Given the description of an element on the screen output the (x, y) to click on. 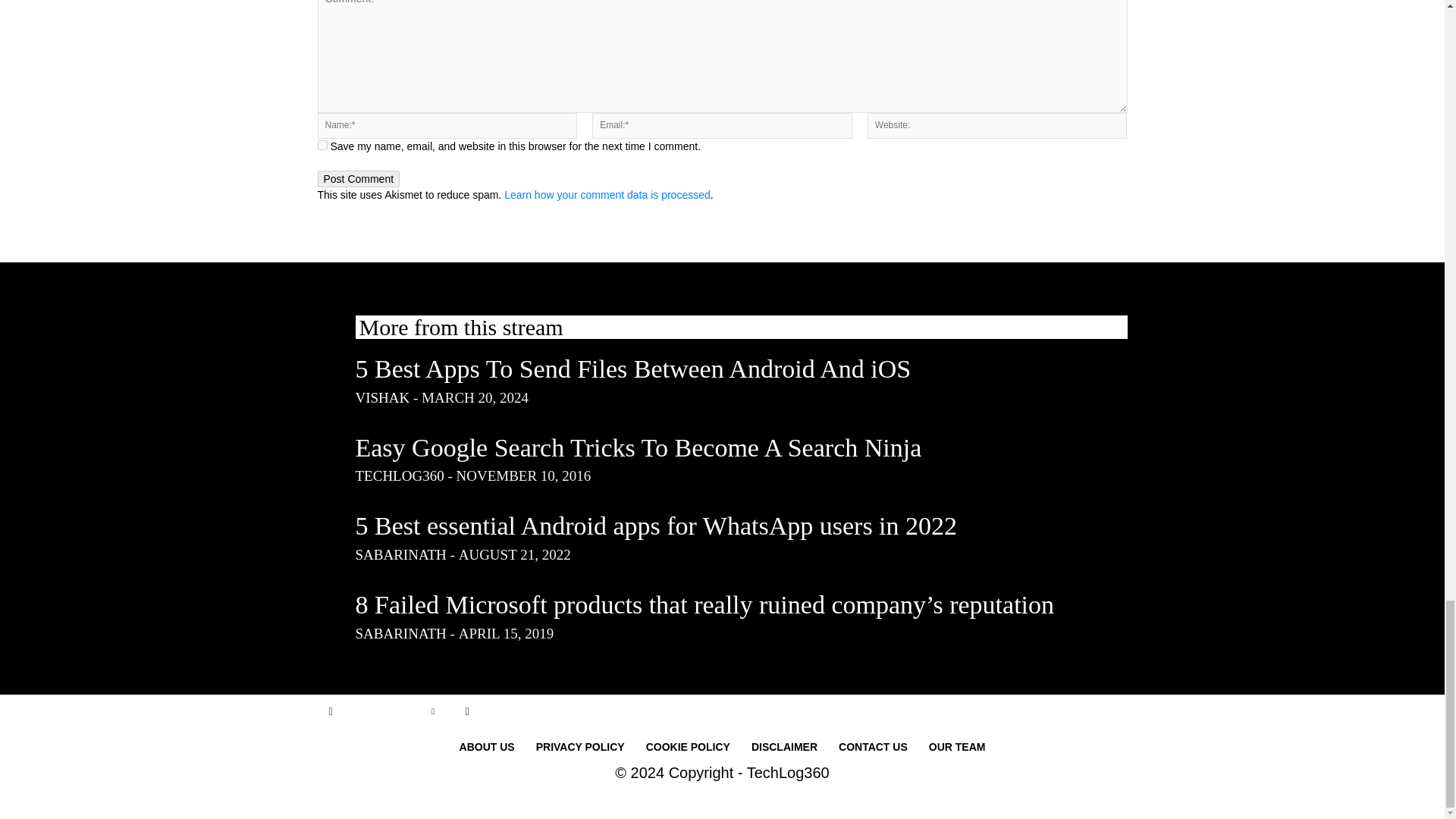
yes (321, 144)
Post Comment (357, 178)
